Given the description of an element on the screen output the (x, y) to click on. 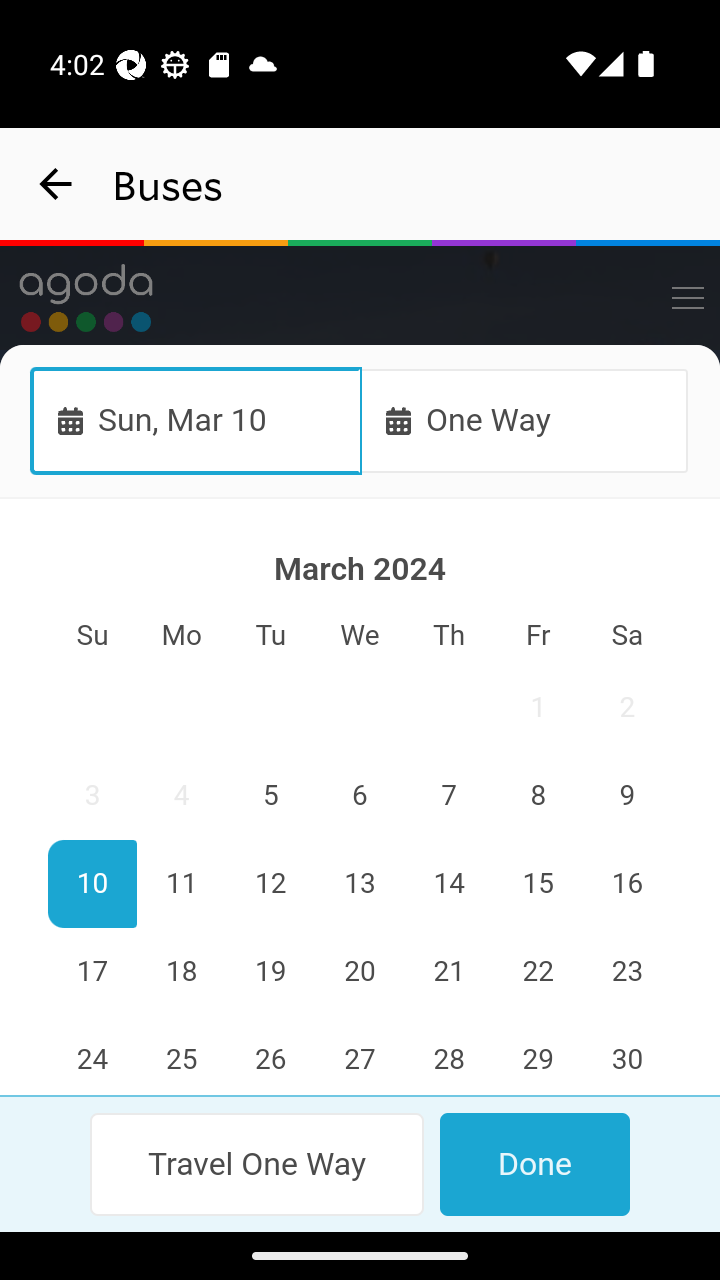
navigation_button (56, 184)
Sun, Mar 10 (195, 420)
One Way (524, 420)
1 (537, 708)
2 (626, 708)
3 (93, 797)
4 (182, 797)
5 (271, 797)
6 (359, 797)
7 (448, 797)
8 (537, 797)
9 (626, 797)
10 (93, 884)
11 (182, 884)
12 (271, 884)
13 (359, 884)
14 (448, 884)
15 (537, 884)
16 (626, 884)
17 (93, 972)
18 (182, 972)
19 (271, 972)
20 (359, 972)
21 (448, 972)
22 (537, 972)
23 (626, 972)
24 (93, 1055)
25 (182, 1055)
26 (271, 1055)
27 (359, 1055)
28 (448, 1055)
29 (537, 1055)
30 (626, 1055)
Travel One Way (258, 1164)
Done (534, 1164)
